Given the description of an element on the screen output the (x, y) to click on. 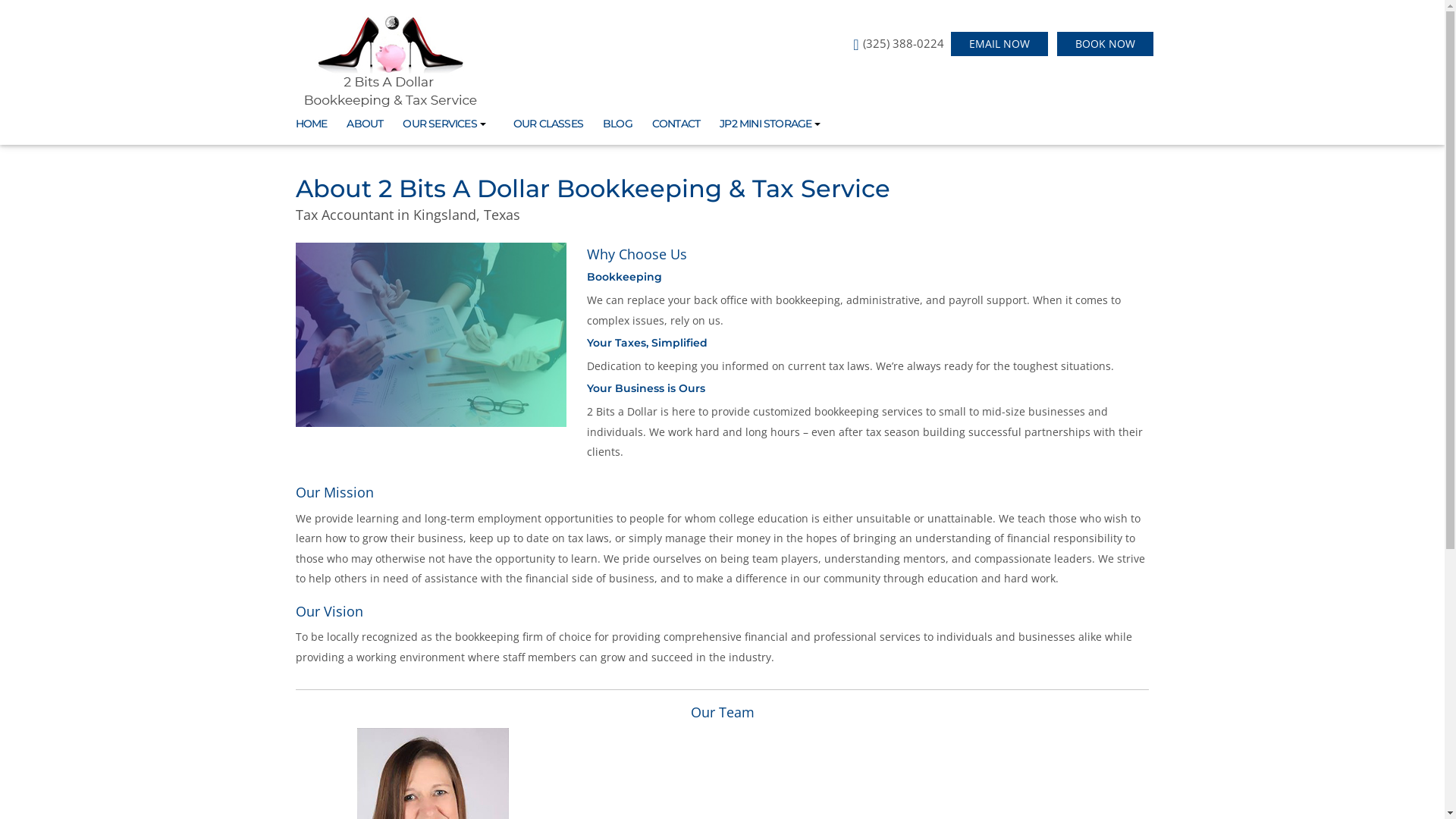
Bookkeeping Element type: text (624, 276)
HOME Element type: text (316, 123)
ABOUT Element type: text (364, 123)
BLOG Element type: text (617, 123)
Taxes Element type: text (630, 342)
CONTACT Element type: text (675, 123)
OUR CLASSES Element type: text (548, 123)
BOOK NOW Element type: text (1105, 43)
OUR SERVICES Element type: text (447, 123)
(325) 388-0224 Element type: text (900, 42)
JP2 MINI STORAGE Element type: text (773, 123)
EMAIL NOW Element type: text (999, 43)
